Given the description of an element on the screen output the (x, y) to click on. 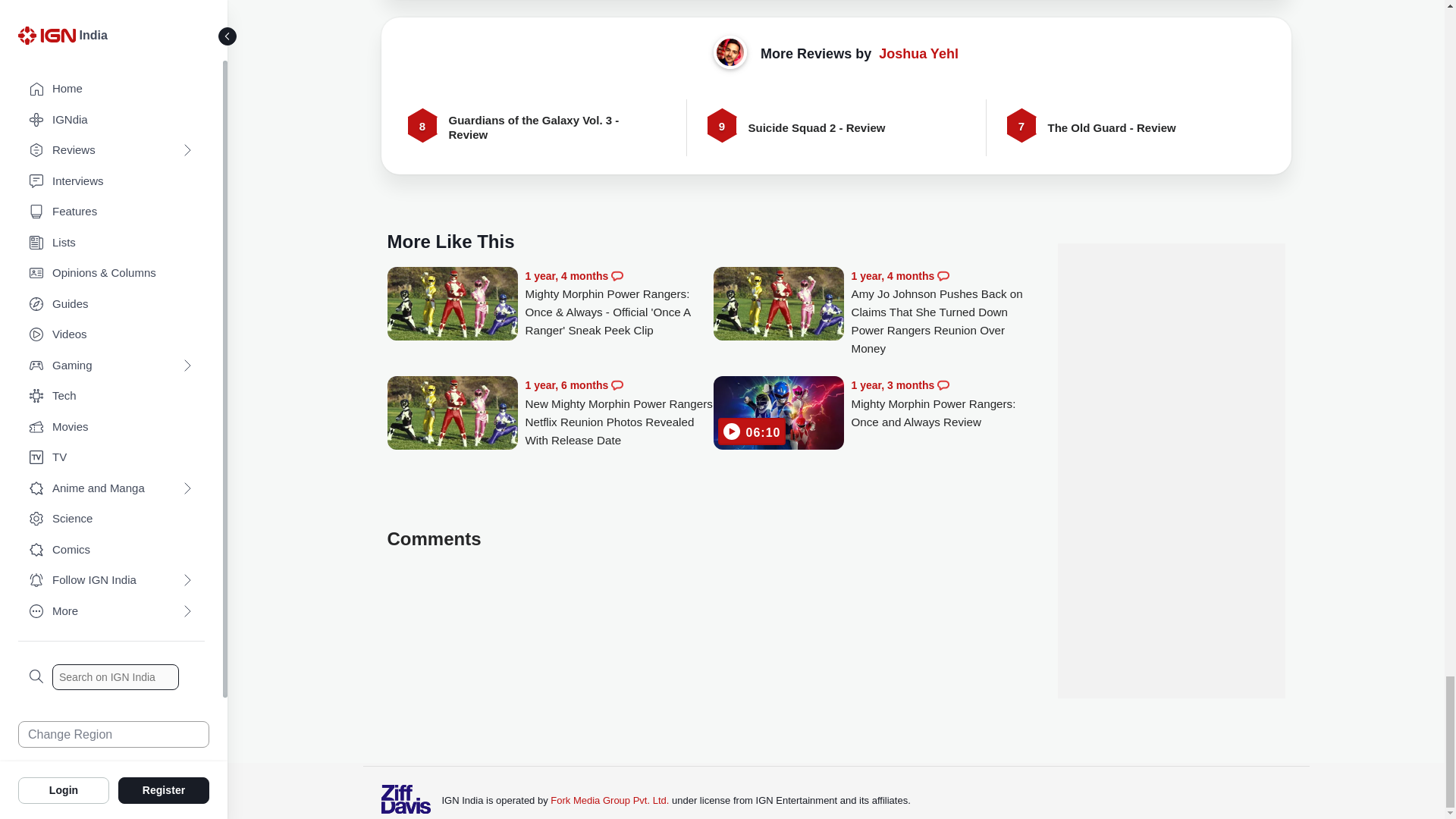
Mighty Morphin Power Rangers: Once and Always Review (778, 413)
Mighty Morphin Power Rangers: Once and Always Review (944, 403)
